Given the description of an element on the screen output the (x, y) to click on. 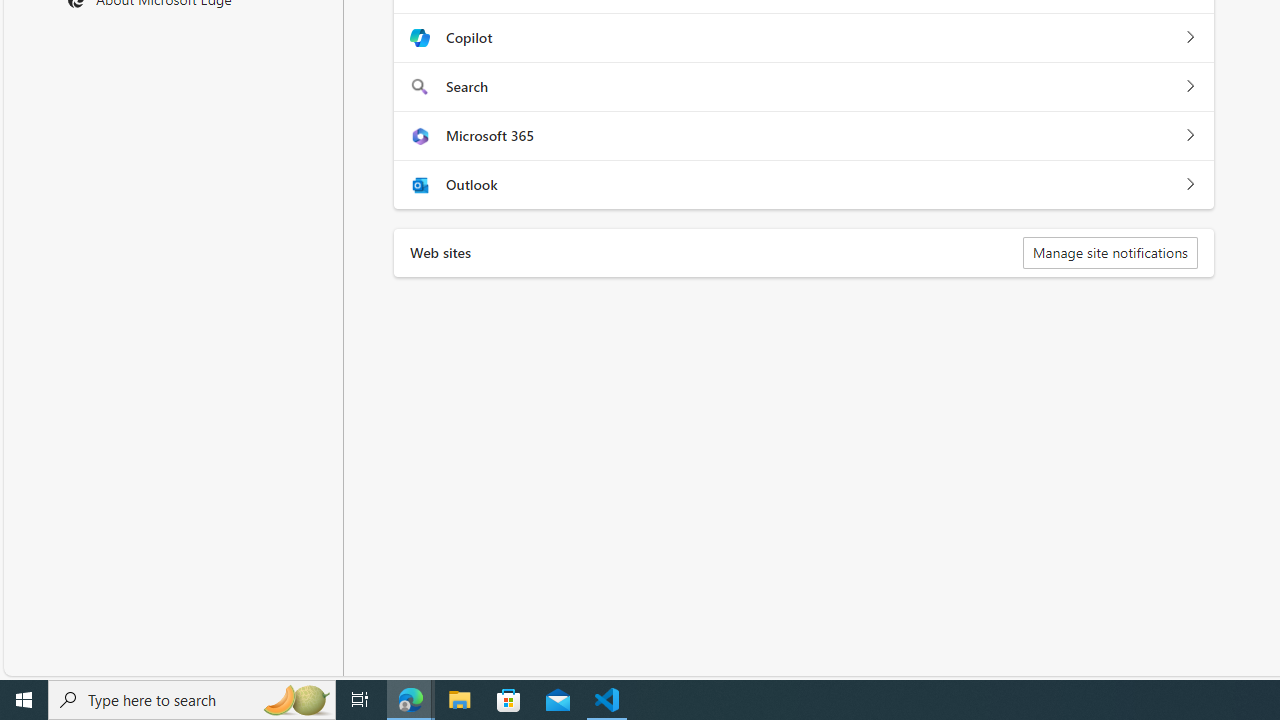
Copilot (1190, 38)
Manage site notifications (1109, 252)
